Given the description of an element on the screen output the (x, y) to click on. 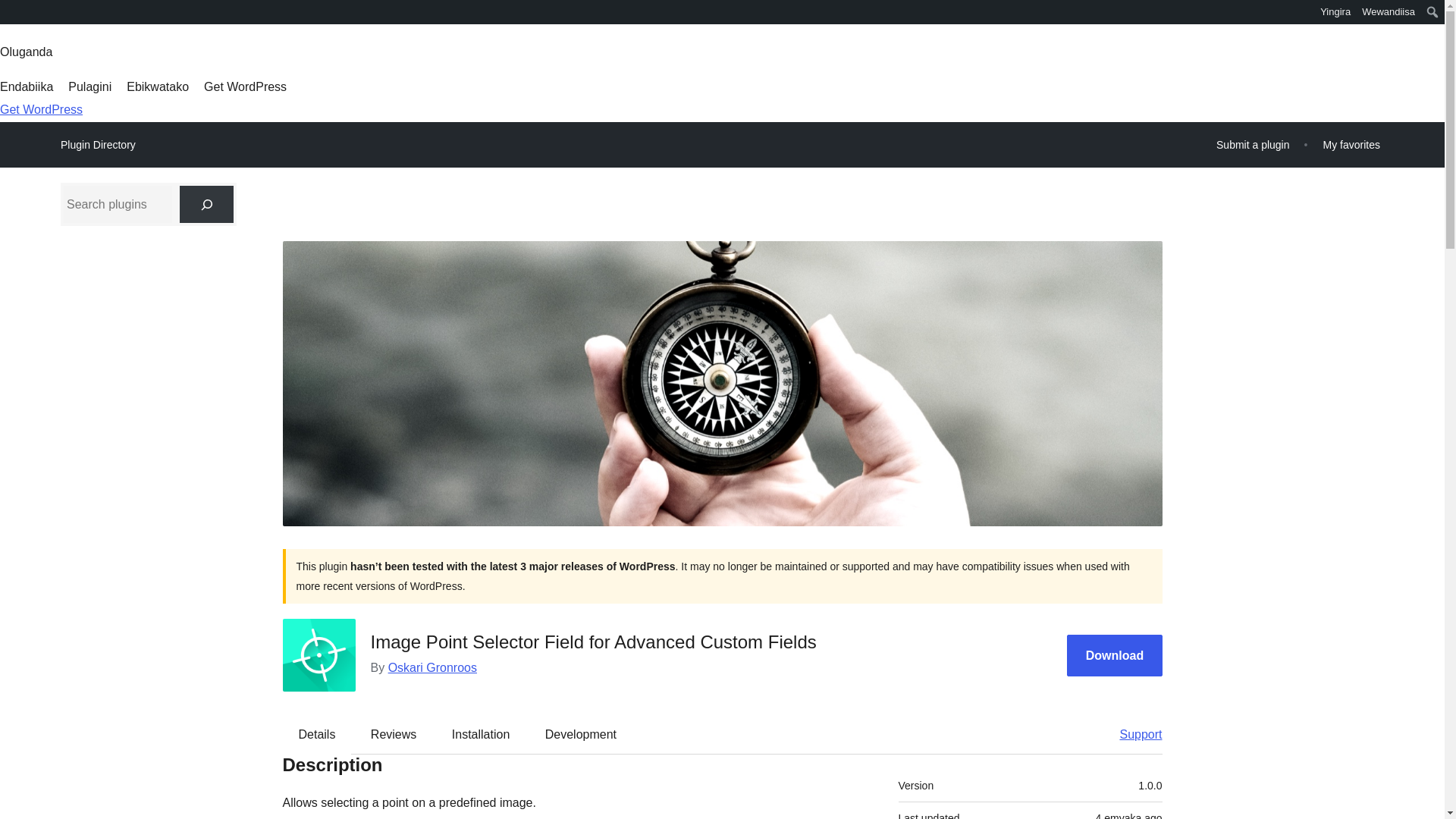
Submit a plugin (1253, 144)
WordPress.org (10, 10)
Ebikwatako (157, 87)
Endabiika (26, 87)
Details (316, 733)
My favorites (1351, 144)
Wewandiisa (1388, 12)
Oskari Gronroos (432, 667)
WordPress.org (10, 16)
Download (1114, 655)
Get WordPress (41, 109)
Noonya (18, 13)
Yingira (1335, 12)
Installation (480, 733)
Development (580, 733)
